Given the description of an element on the screen output the (x, y) to click on. 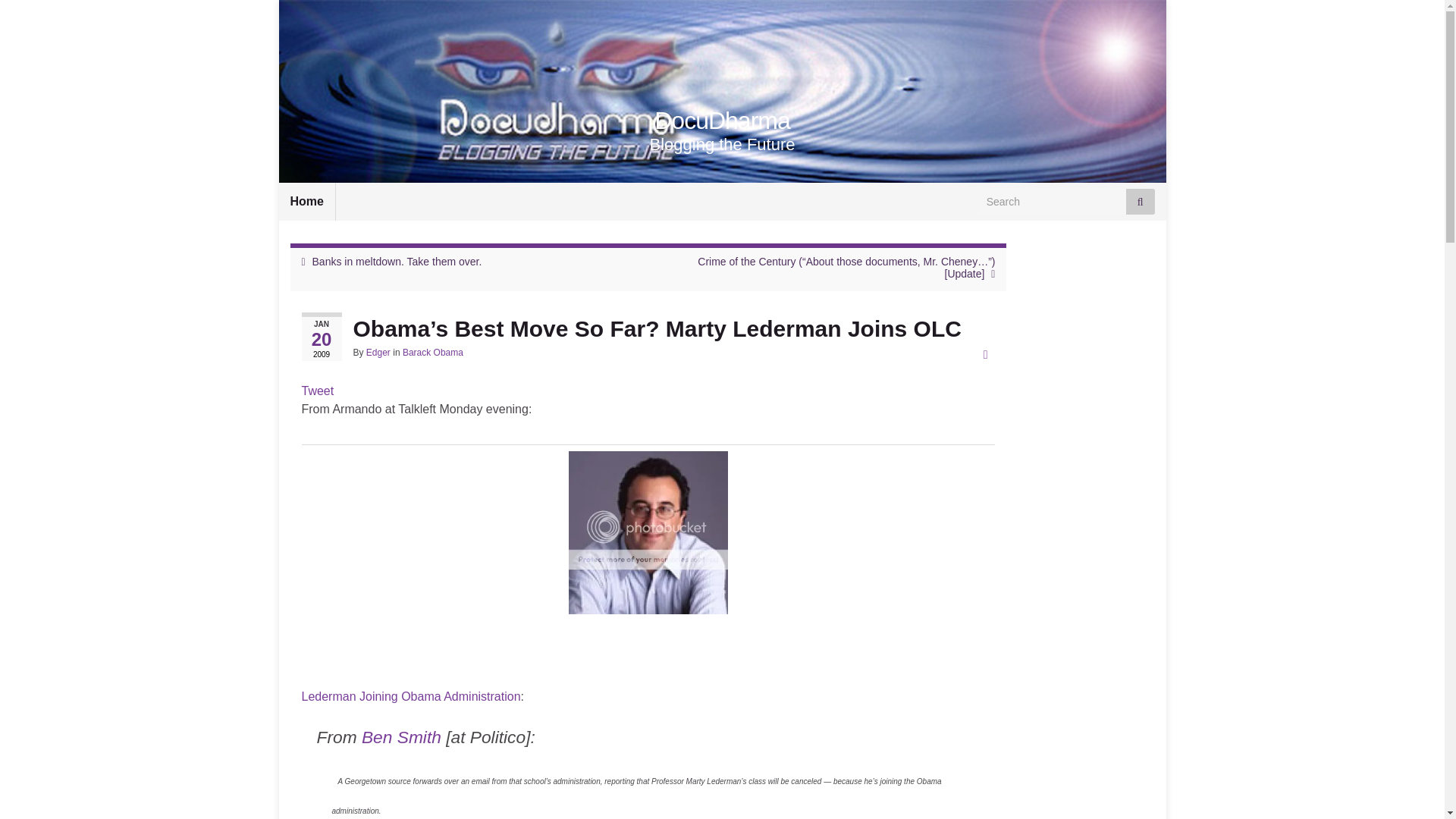
Edger (378, 352)
Go back to the front page (721, 120)
Tweet (317, 390)
Banks in meltdown. Take them over. (397, 261)
Home (306, 201)
DocuDharma (721, 120)
Barack Obama (433, 352)
Lederman Joining Obama Administration (411, 696)
Ben Smith (401, 736)
